Given the description of an element on the screen output the (x, y) to click on. 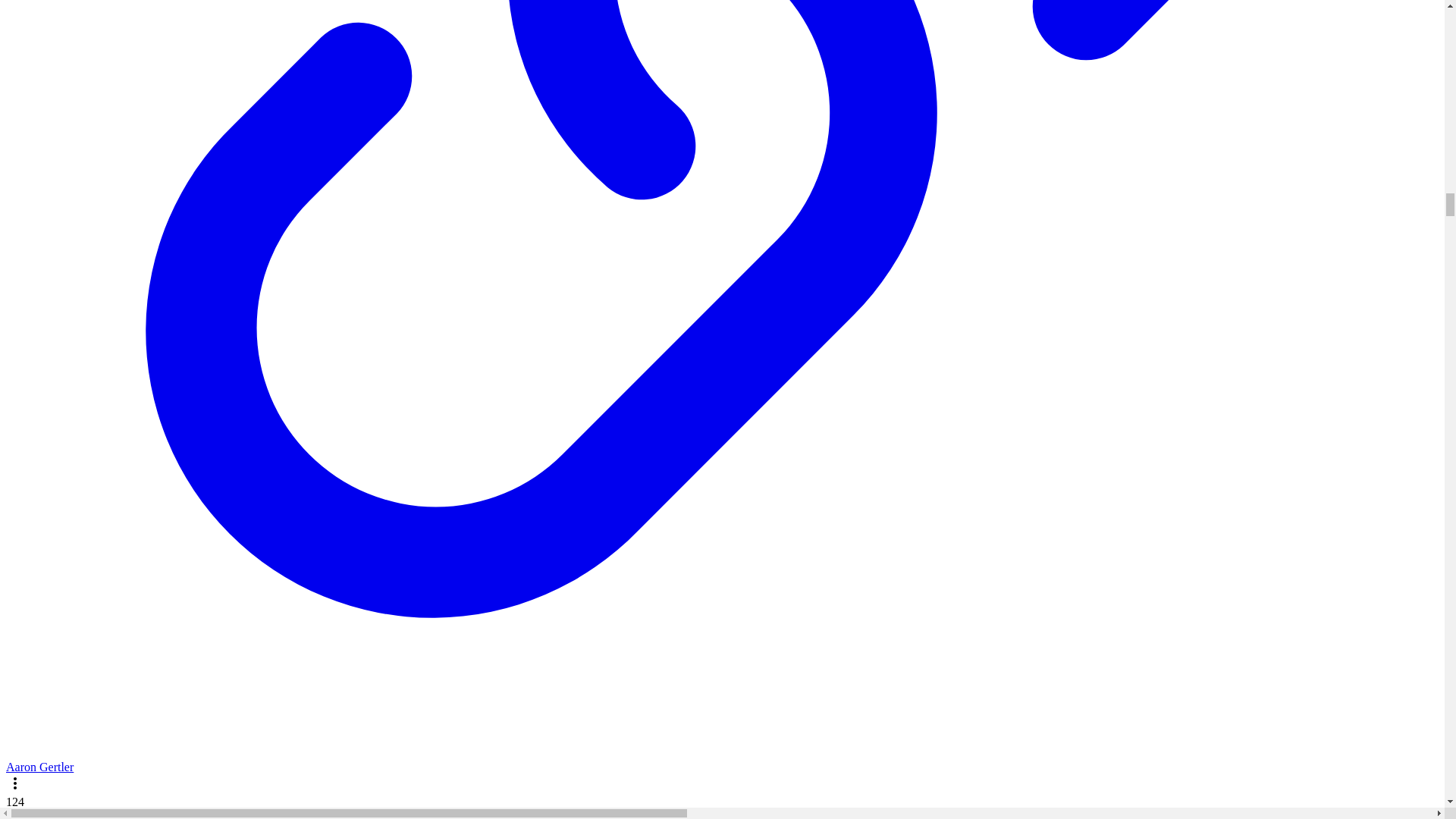
Aaron Gertler (39, 766)
